Given the description of an element on the screen output the (x, y) to click on. 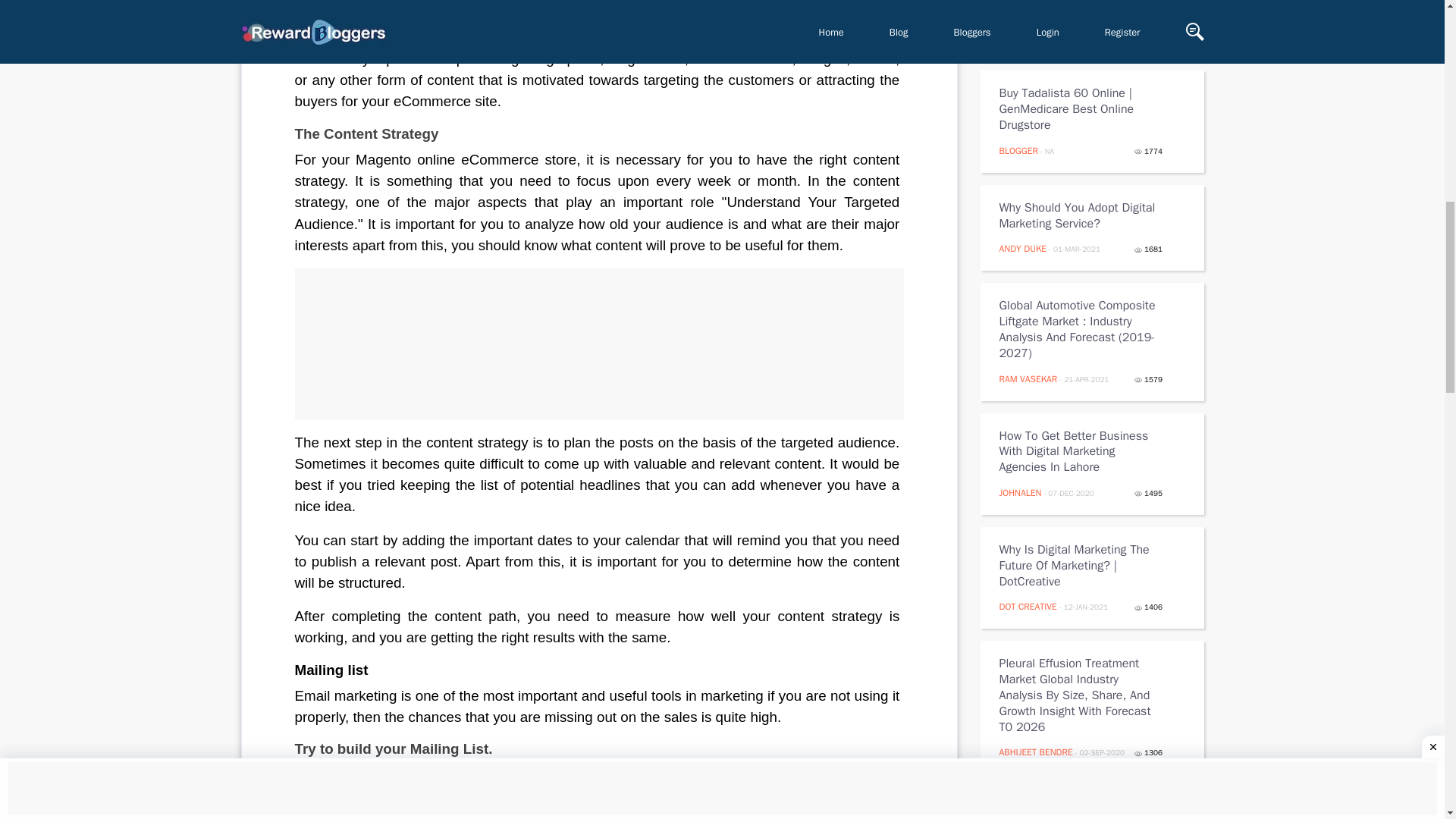
BLOGGER (1018, 150)
RAM VASEKAR (1028, 378)
ABHIJEET BENDRE (1035, 752)
ANDY DUKE (1022, 248)
ABHIJEET BENDRE (1035, 36)
JOHNALEN (1020, 492)
Why Should You Adopt Digital Marketing Service? (1080, 215)
